Given the description of an element on the screen output the (x, y) to click on. 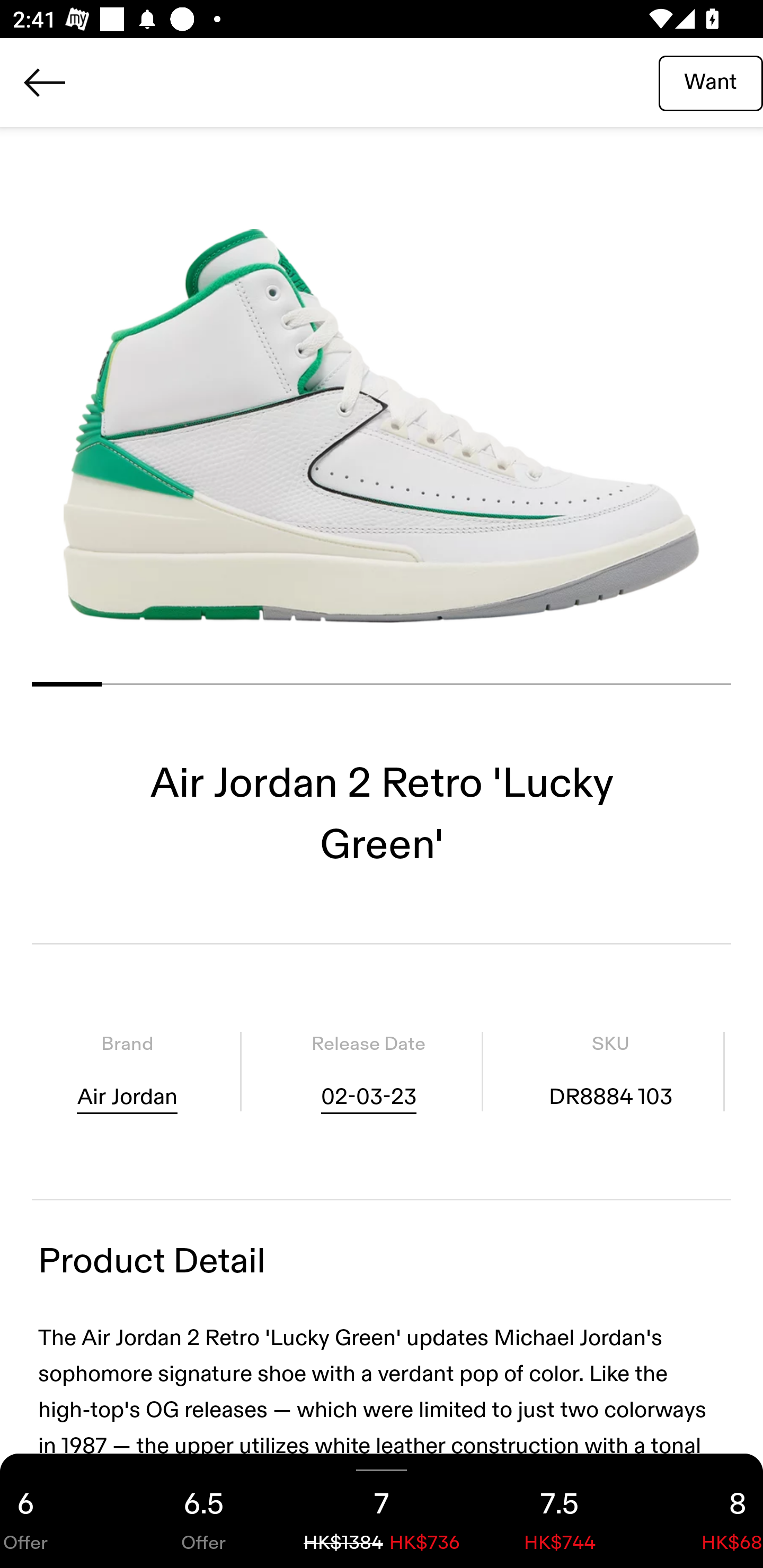
Want (710, 82)
Brand Air Jordan (126, 1070)
Release Date 02-03-23 (368, 1070)
SKU DR8884 103 (609, 1070)
6 Offer (57, 1510)
6.5 Offer (203, 1510)
7 HK$1384 HK$736 (381, 1510)
7.5 HK$744 (559, 1510)
8 HK$680 (705, 1510)
